Given the description of an element on the screen output the (x, y) to click on. 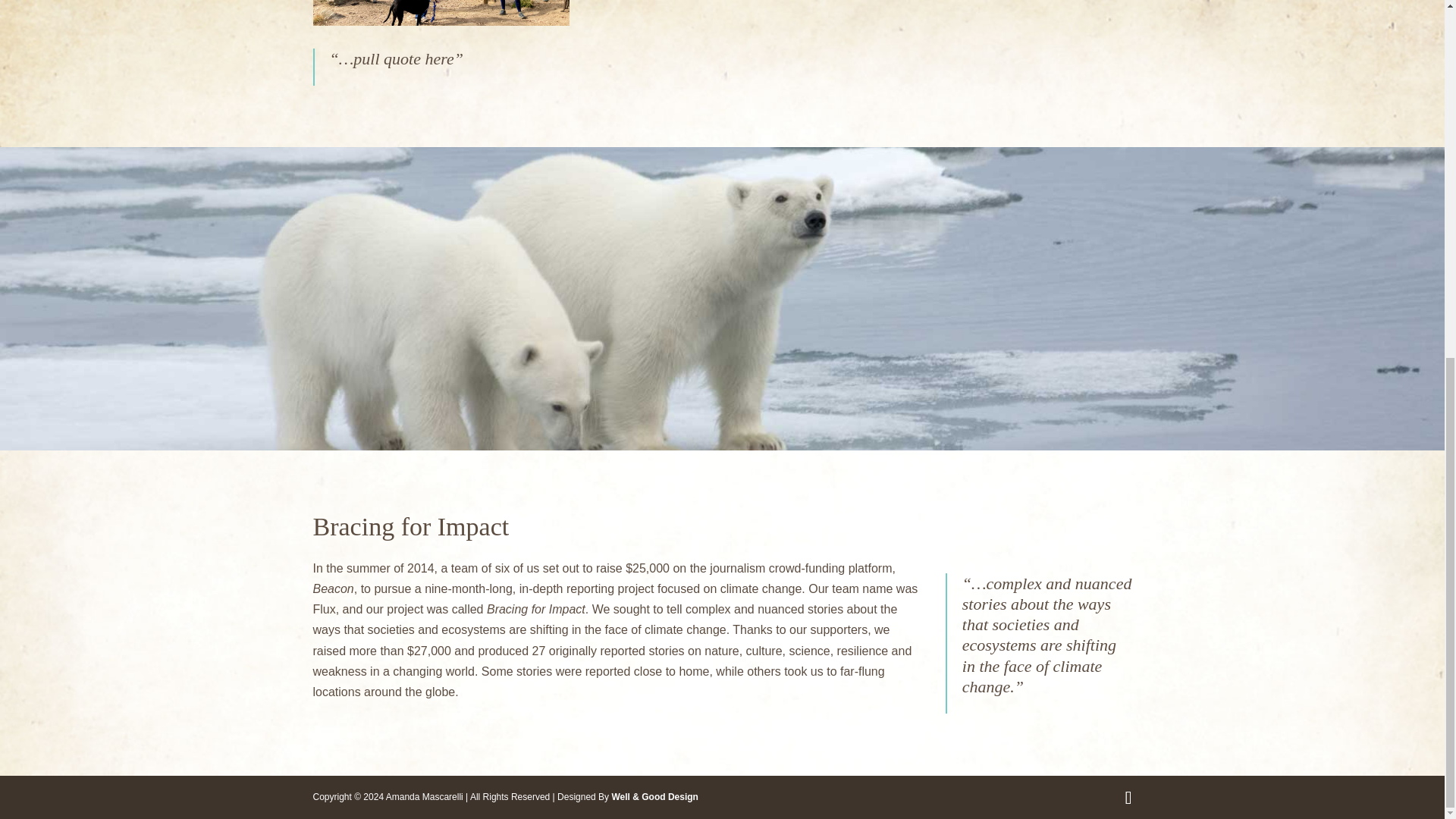
Cover of the Science Writers' Handbook (441, 12)
Cover of the Science Writers' Handbook (441, 21)
